Given the description of an element on the screen output the (x, y) to click on. 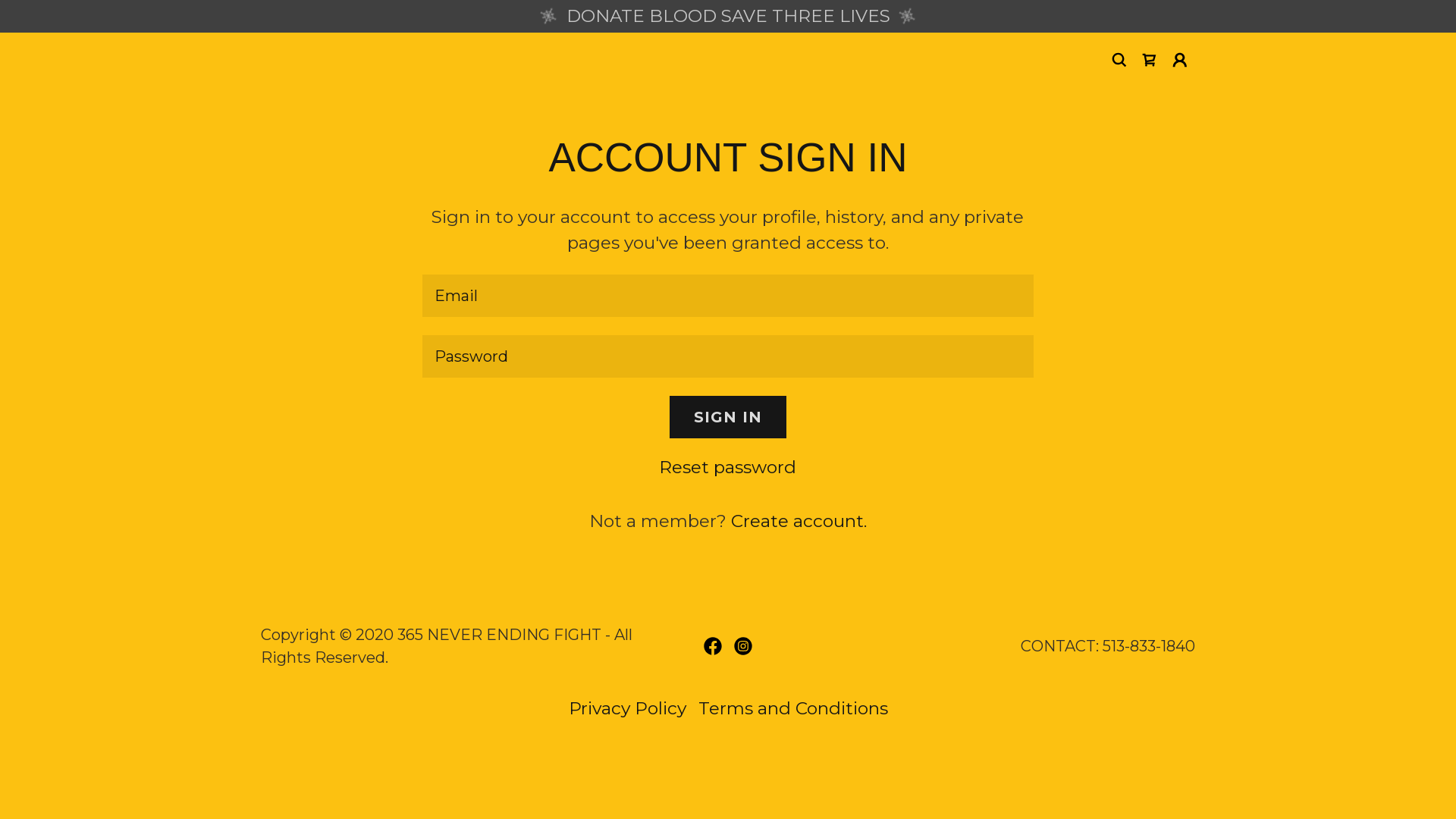
Create account. Element type: text (798, 520)
Privacy Policy Element type: text (627, 707)
SIGN IN Element type: text (727, 416)
Terms and Conditions Element type: text (792, 707)
Reset password Element type: text (727, 466)
